Given the description of an element on the screen output the (x, y) to click on. 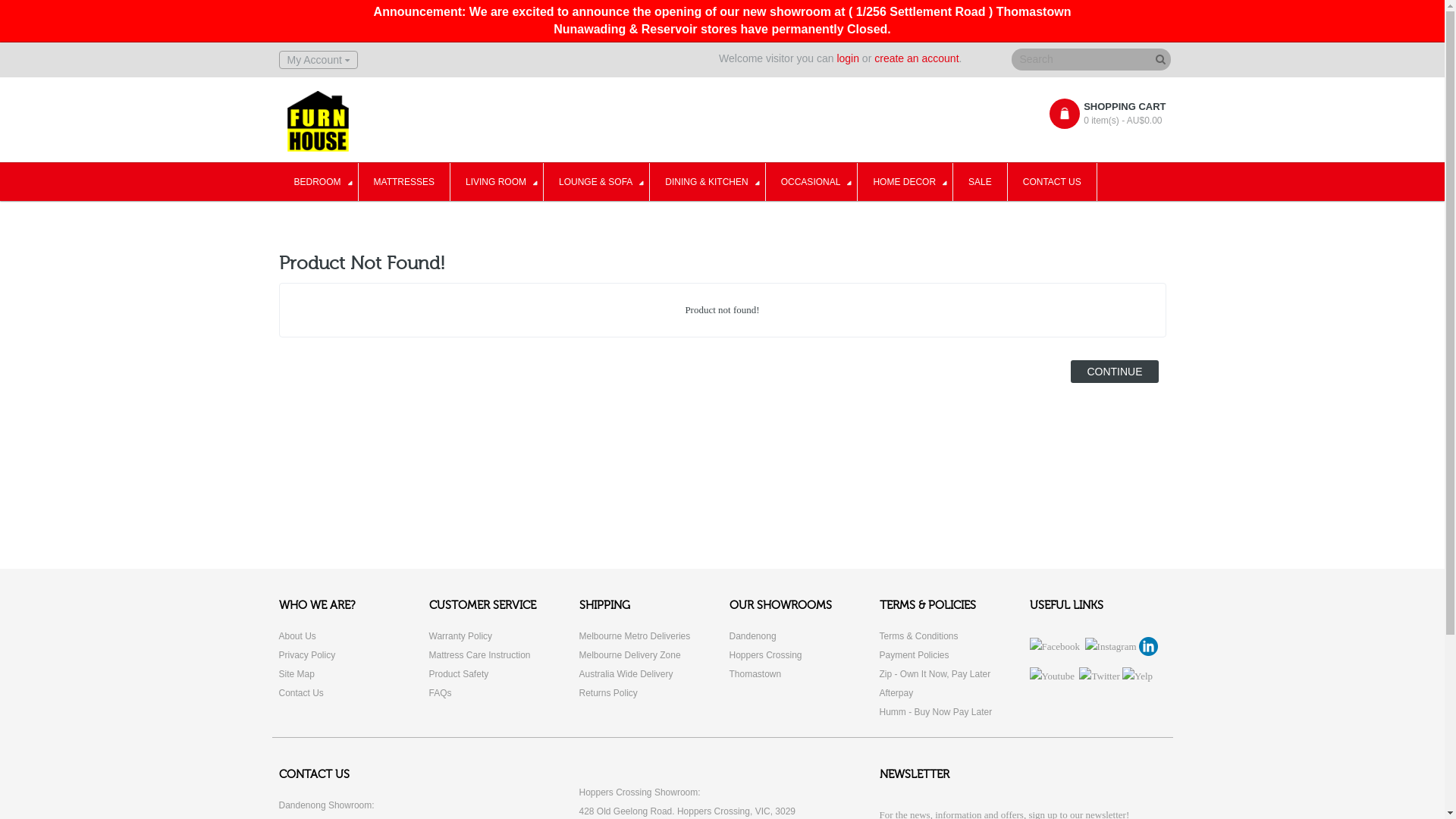
OCCASIONAL Element type: text (811, 181)
0 item(s) - AU$0.00 Element type: text (1116, 120)
HOME DECOR Element type: text (905, 181)
Returns Policy Element type: text (608, 692)
MATTRESSES Element type: text (404, 181)
Privacy Policy Element type: text (307, 654)
Terms & Conditions Element type: text (918, 635)
Contact Us Element type: text (301, 692)
login Element type: text (847, 58)
LOUNGE & SOFA Element type: text (596, 181)
Payment Policies Element type: text (914, 654)
SALE Element type: text (980, 181)
CONTINUE Element type: text (1113, 371)
DINING & KITCHEN Element type: text (707, 181)
Dandenong Element type: text (752, 635)
My Account Element type: text (318, 59)
Thomastown Element type: text (755, 673)
Melbourne Delivery Zone Element type: text (629, 654)
BEDROOM Element type: text (318, 181)
CONTACT US Element type: text (1052, 181)
Furn House Element type: hover (317, 121)
Melbourne Metro Deliveries Element type: text (634, 635)
About Us Element type: text (297, 635)
Site Map Element type: text (296, 673)
Humm - Buy Now Pay Later Element type: text (935, 711)
LIVING ROOM Element type: text (496, 181)
Mattress Care Instruction Element type: text (479, 654)
Zip - Own It Now, Pay Later Element type: text (935, 673)
Hoppers Crossing Element type: text (765, 654)
Afterpay Element type: text (896, 692)
Warranty Policy Element type: text (460, 635)
Australia Wide Delivery Element type: text (626, 673)
Product Safety Element type: text (459, 673)
create an account Element type: text (916, 58)
FAQs Element type: text (440, 692)
